Given the description of an element on the screen output the (x, y) to click on. 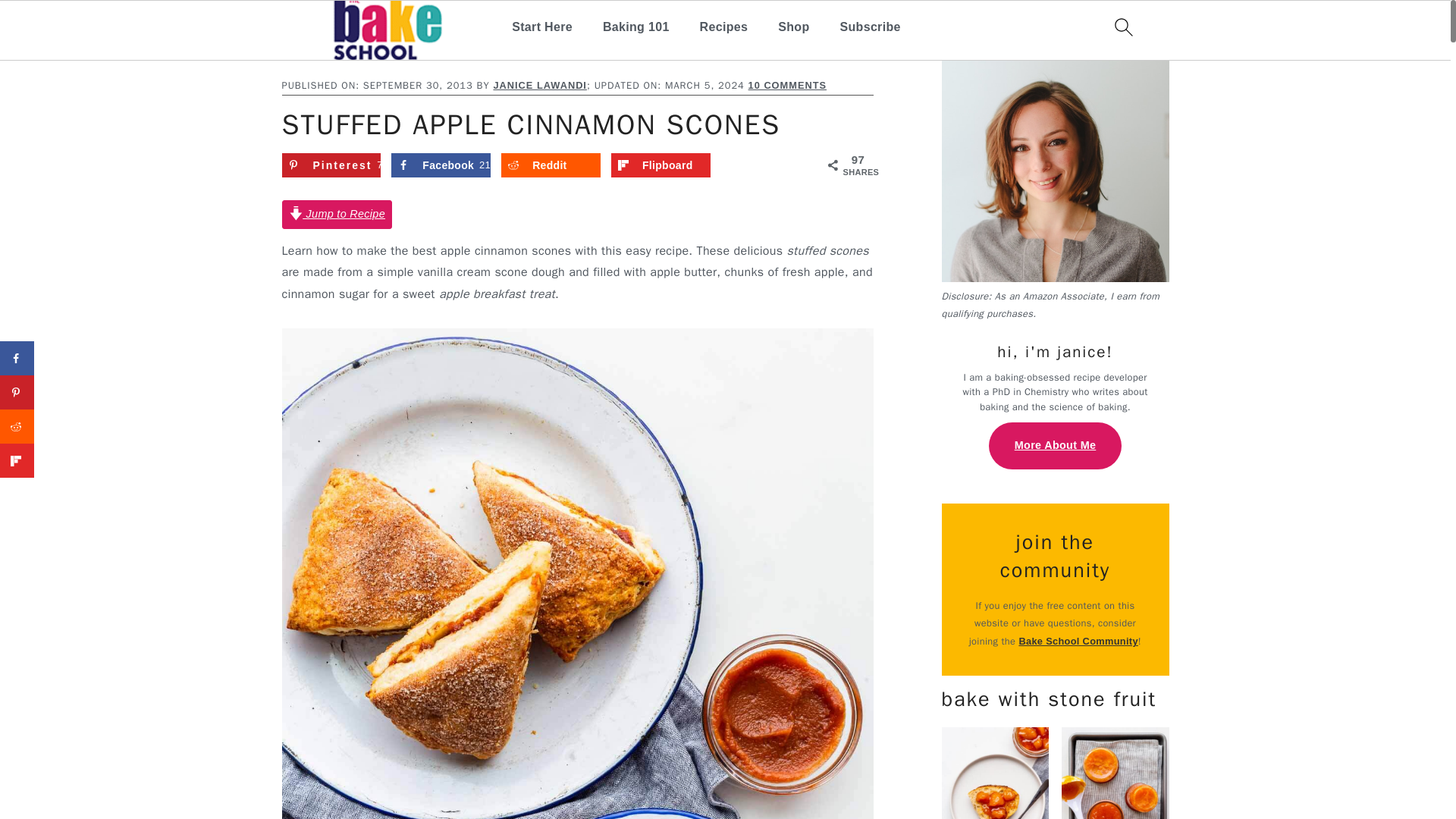
Subscribe (870, 26)
JANICE LAWANDI (539, 84)
Share on Flipboard (660, 165)
Share on Facebook (440, 165)
Recipes (724, 26)
search icon (1122, 26)
Save to Pinterest (331, 165)
Home (296, 53)
Share on Facebook (16, 358)
Apple (383, 53)
